Given the description of an element on the screen output the (x, y) to click on. 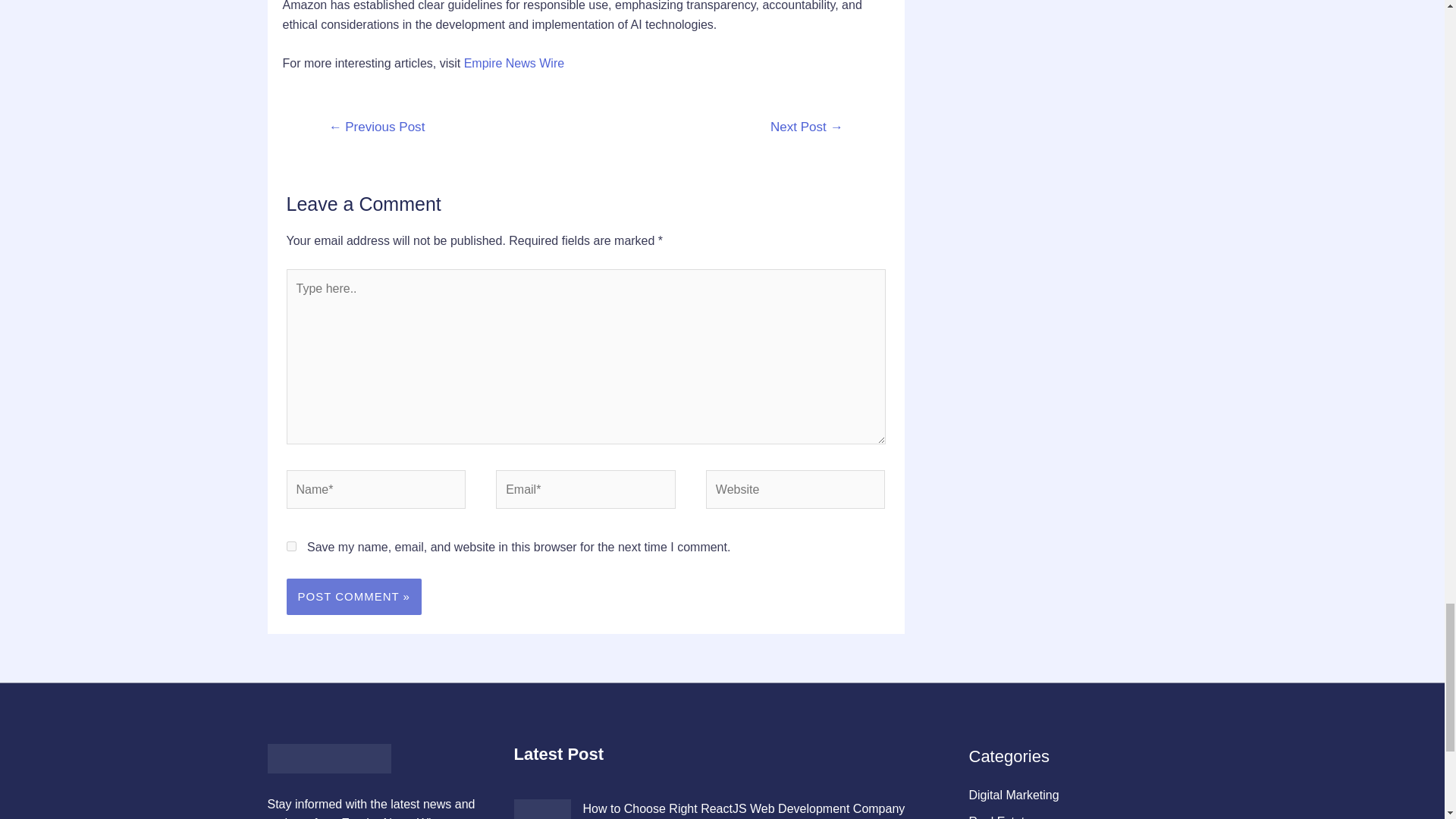
yes (291, 546)
